Given the description of an element on the screen output the (x, y) to click on. 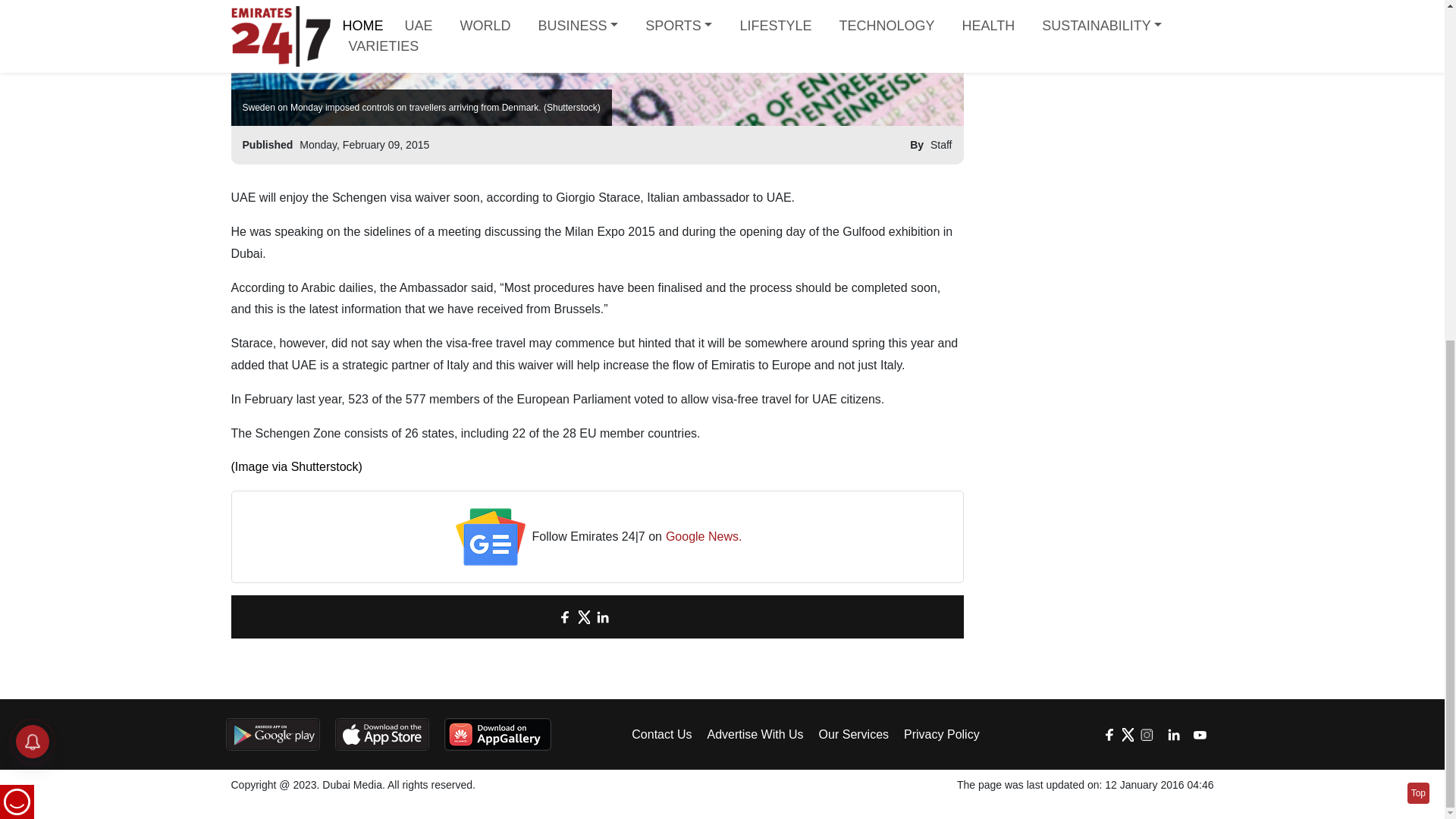
Go to top (1418, 215)
